Given the description of an element on the screen output the (x, y) to click on. 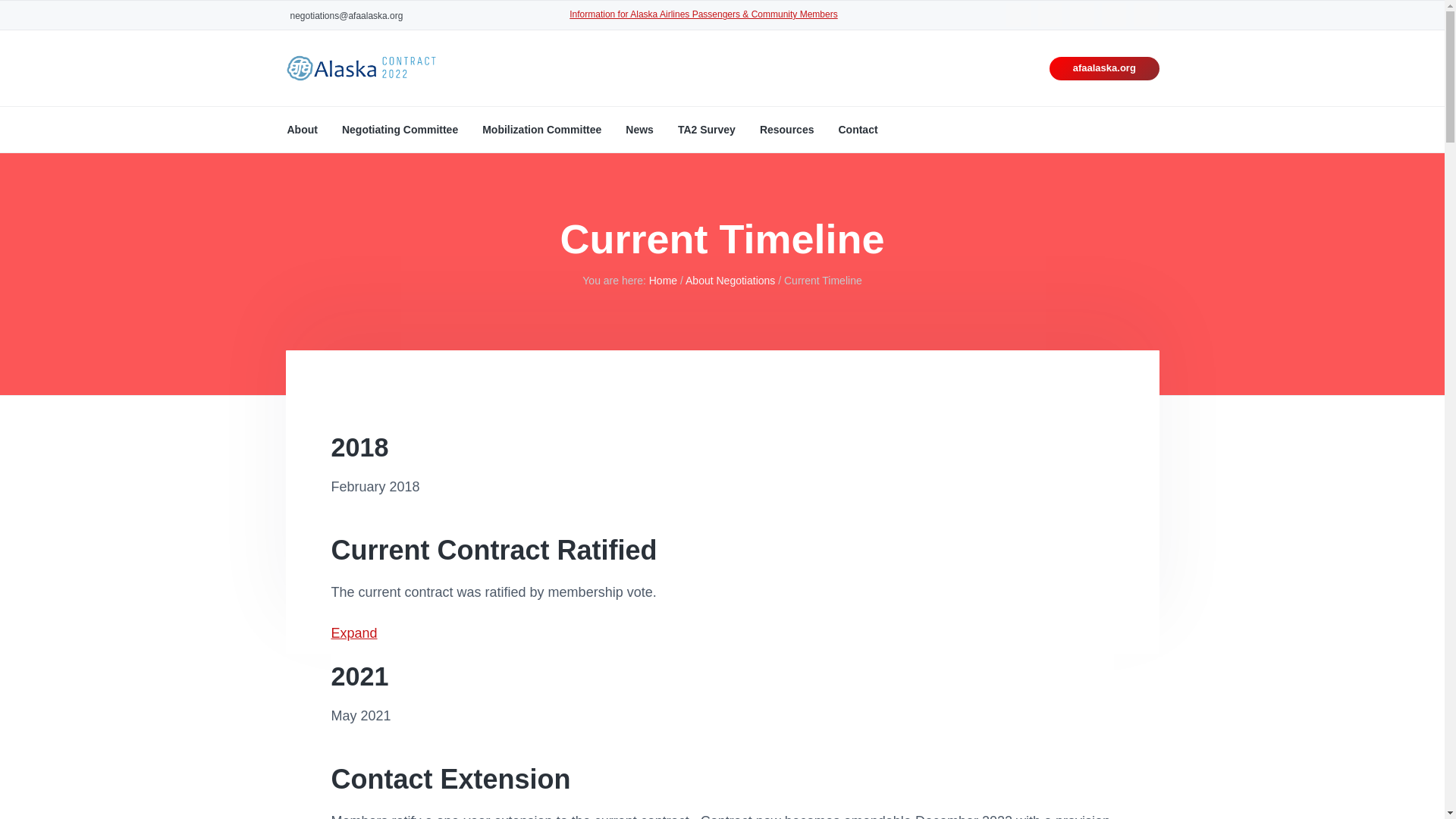
Mobilization Committee (541, 129)
Negotiating Committee (400, 129)
afaalaska.org (1103, 68)
About Negotiations (729, 280)
Search (60, 18)
Resources (786, 129)
News (639, 129)
Home (663, 280)
Expand (353, 632)
Contact (857, 129)
